Given the description of an element on the screen output the (x, y) to click on. 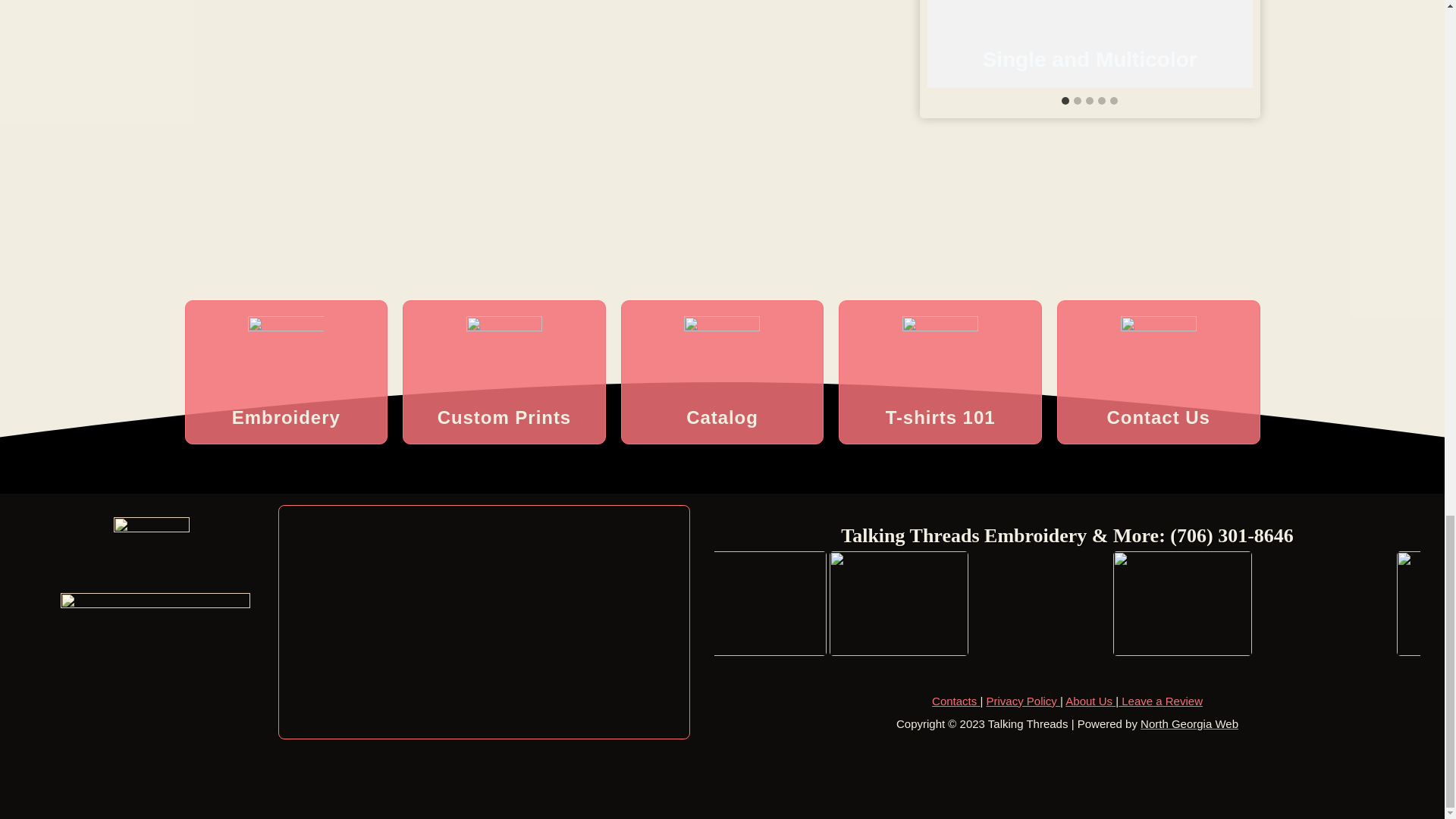
Google map of Talking Threads Embroidery and more (484, 621)
